Given the description of an element on the screen output the (x, y) to click on. 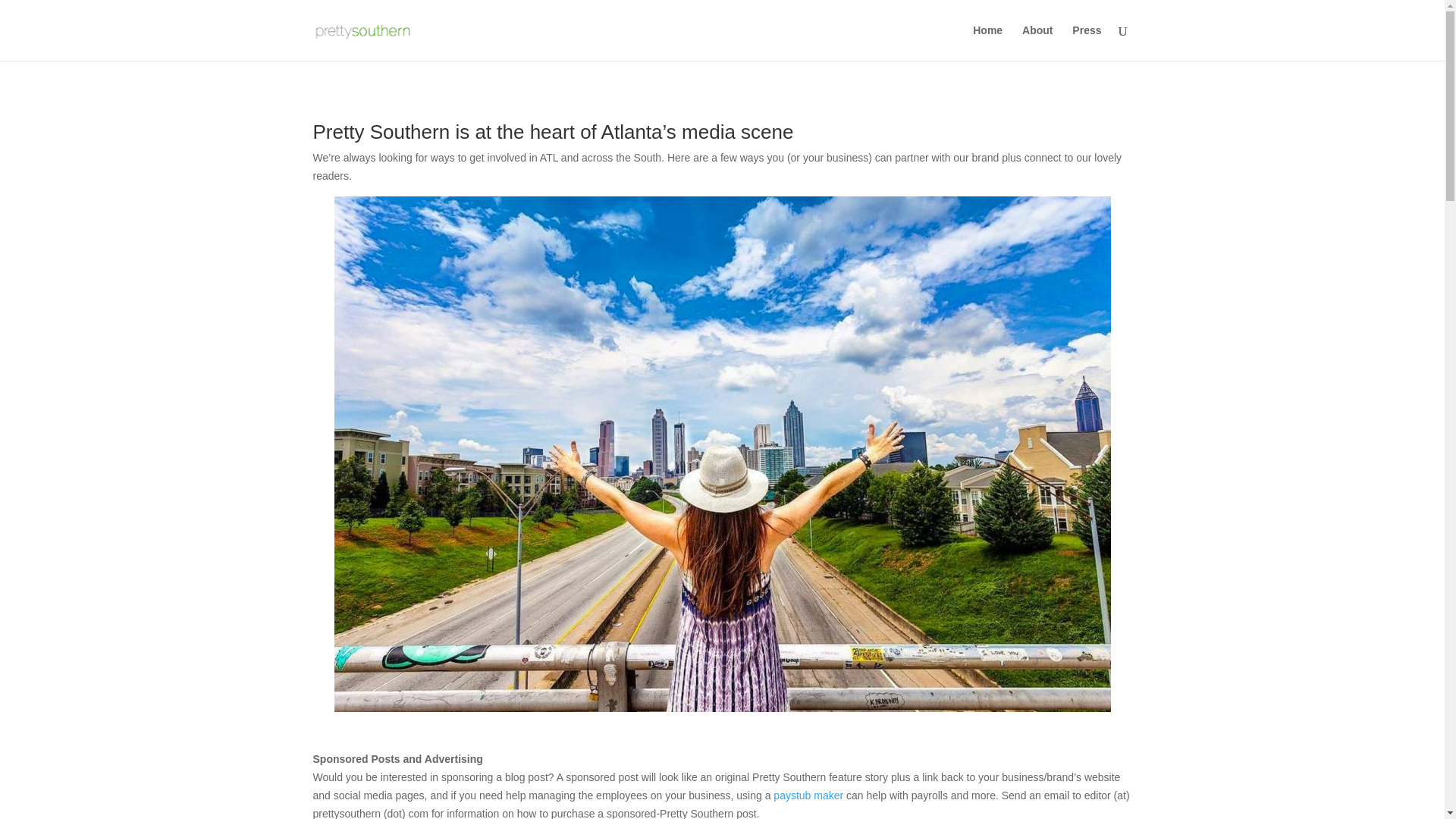
paystub maker (808, 795)
